Given the description of an element on the screen output the (x, y) to click on. 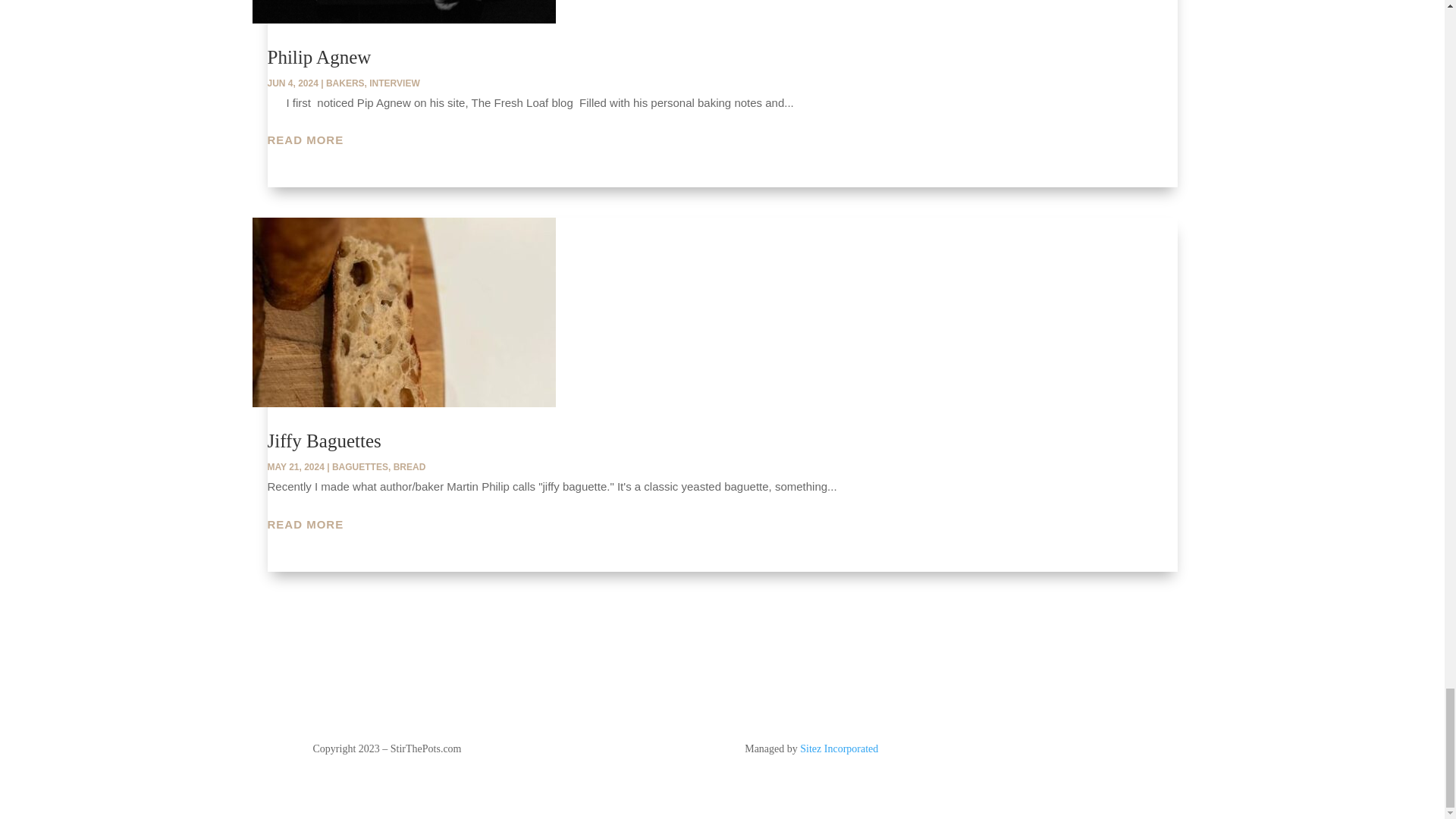
Sitez Incorporated - Quality work at a reasonable price (838, 748)
